Given the description of an element on the screen output the (x, y) to click on. 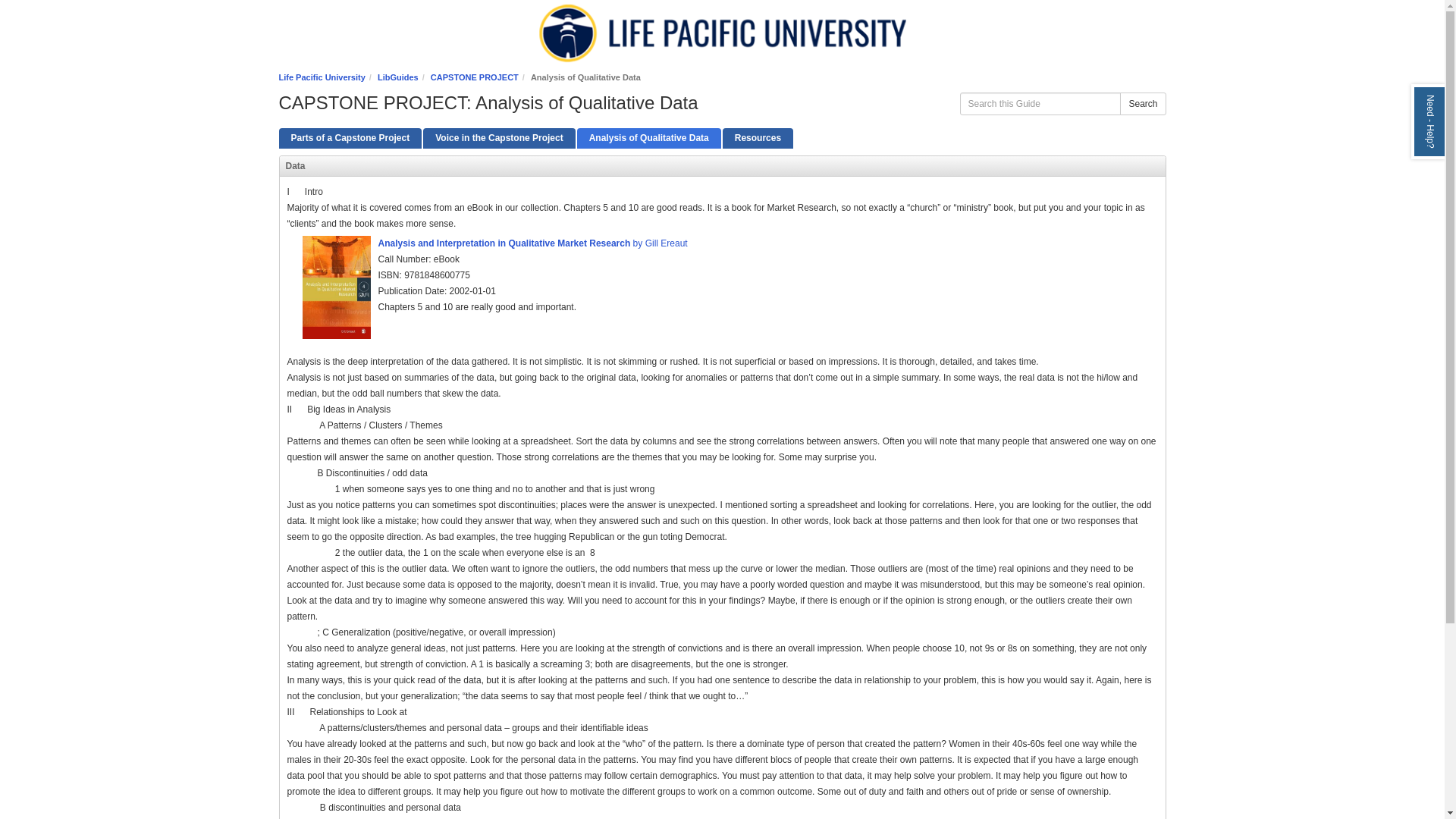
CAPSTONE PROJECT (474, 76)
Voice in the Capstone Project (499, 137)
Parts of a Capstone Project (350, 137)
Resources (757, 137)
Analysis of Qualitative Data (648, 137)
Search (1142, 103)
LibGuides (398, 76)
Life Pacific University (322, 76)
